Given the description of an element on the screen output the (x, y) to click on. 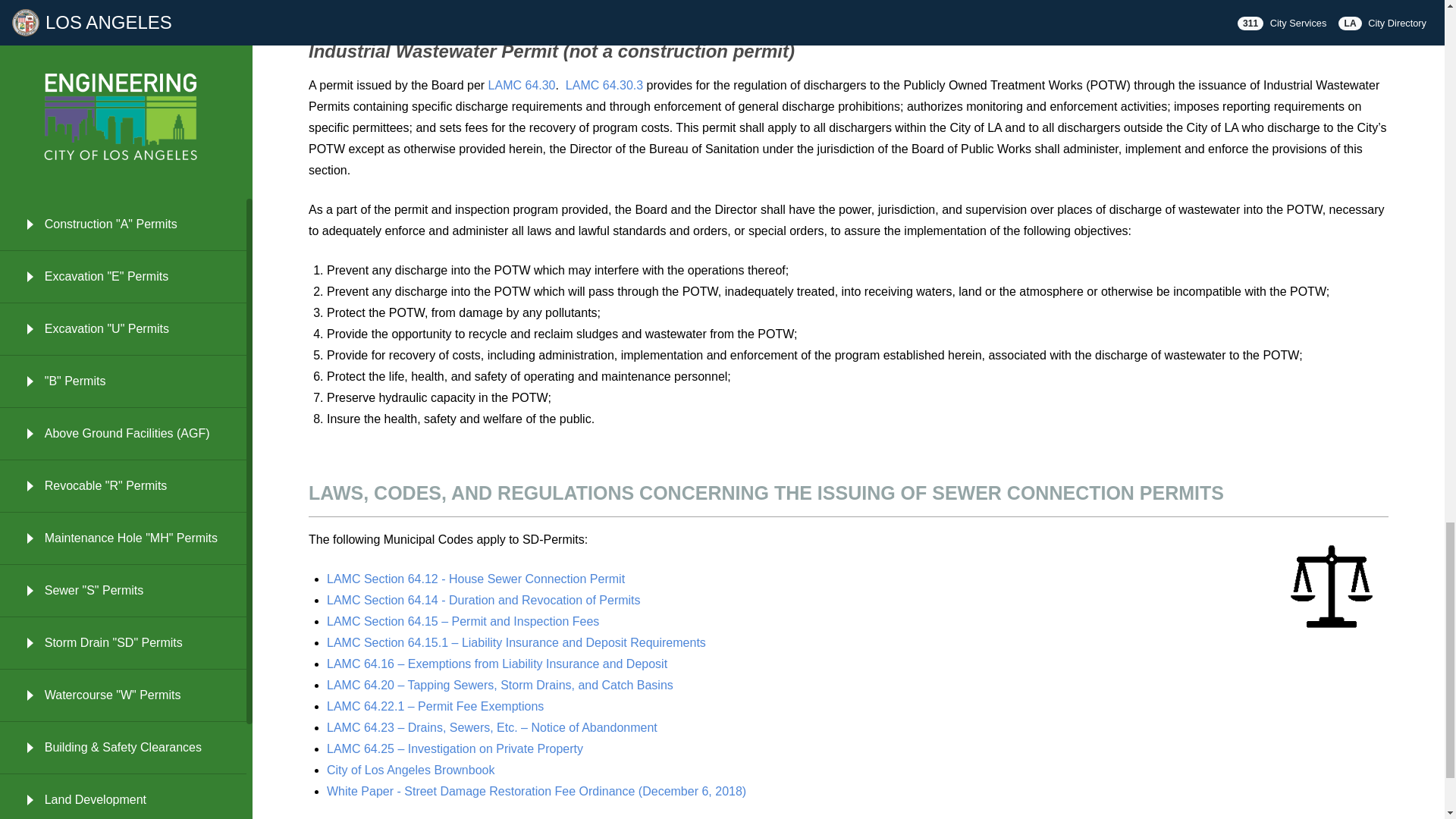
LAMC 64.30.3 (604, 84)
LAMC 64.30 (521, 84)
LAMC 64.12 (475, 578)
